Given the description of an element on the screen output the (x, y) to click on. 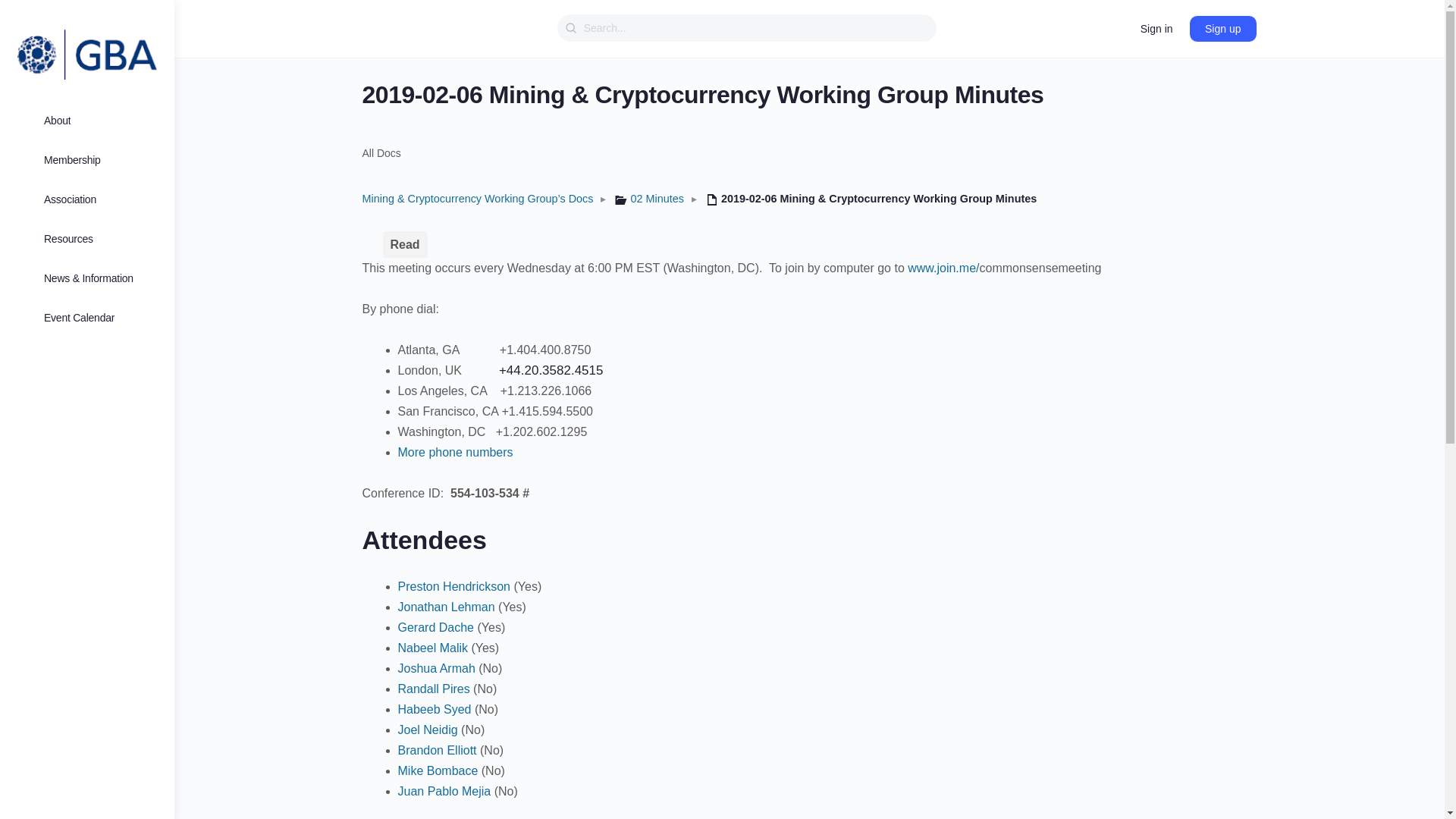
Sign in (1156, 28)
Sign up (1222, 28)
Resources (87, 238)
Membership (87, 160)
Association (87, 199)
Event Calendar (87, 317)
About (87, 120)
